Given the description of an element on the screen output the (x, y) to click on. 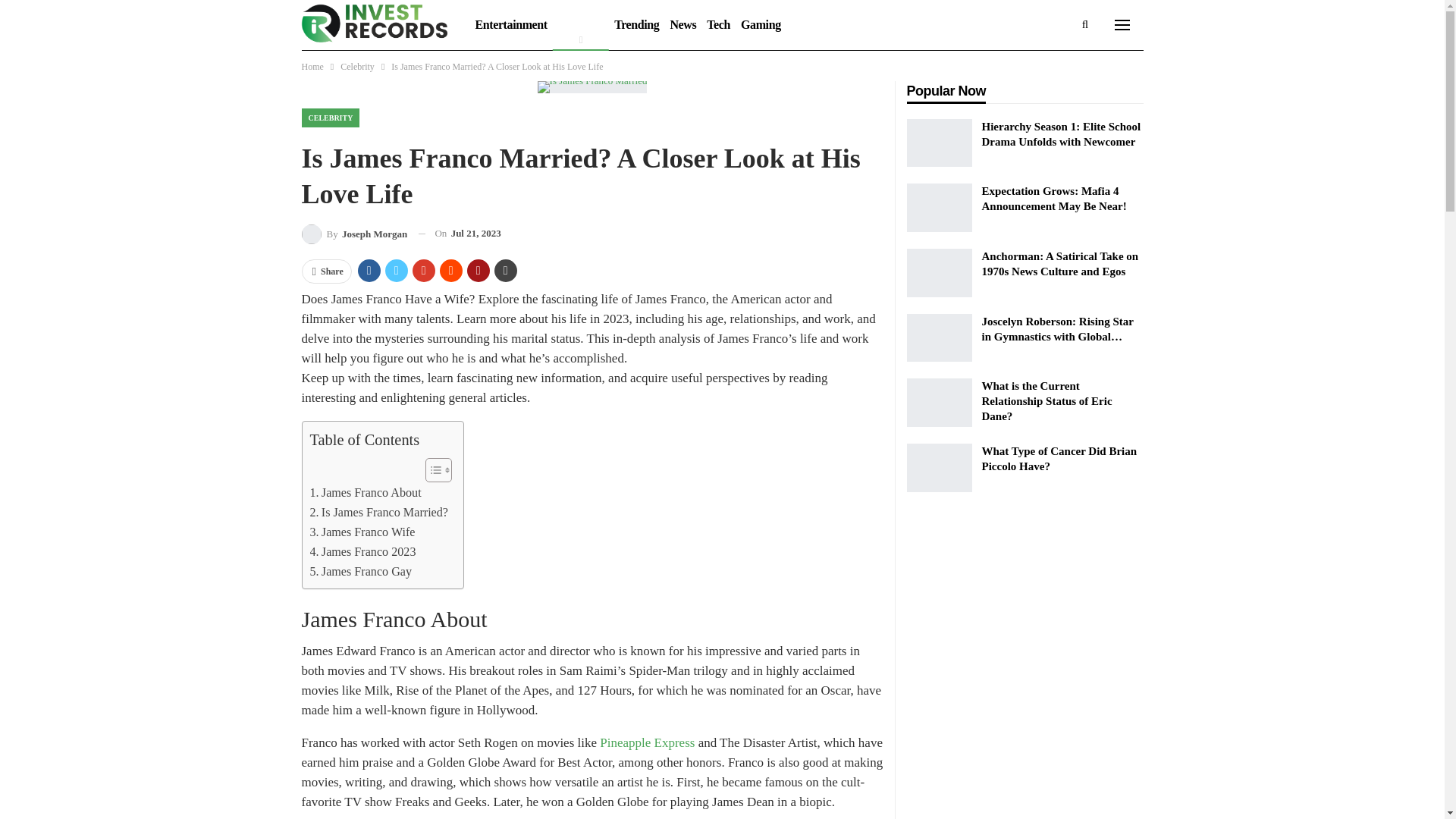
James Franco Wife (361, 532)
Is James Franco Married? (378, 512)
By Joseph Morgan (354, 233)
James Franco About (364, 492)
Trending (635, 24)
Entertainment (511, 24)
James Franco About (364, 492)
James Franco 2023 (361, 551)
James Franco Gay (360, 571)
Celebrity (357, 66)
